Given the description of an element on the screen output the (x, y) to click on. 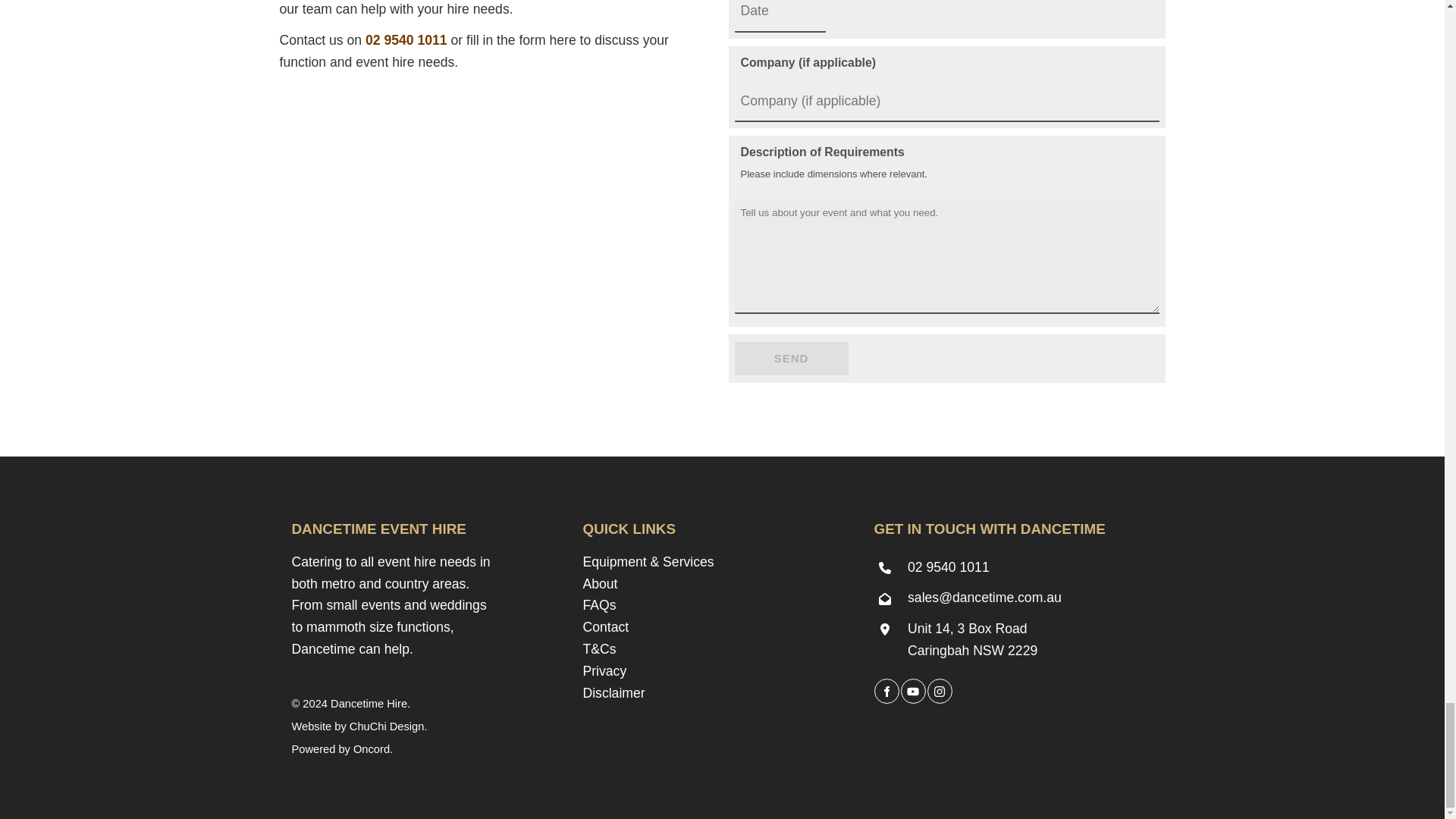
Facebook (885, 690)
Instagram (939, 690)
Youtube (913, 690)
